Given the description of an element on the screen output the (x, y) to click on. 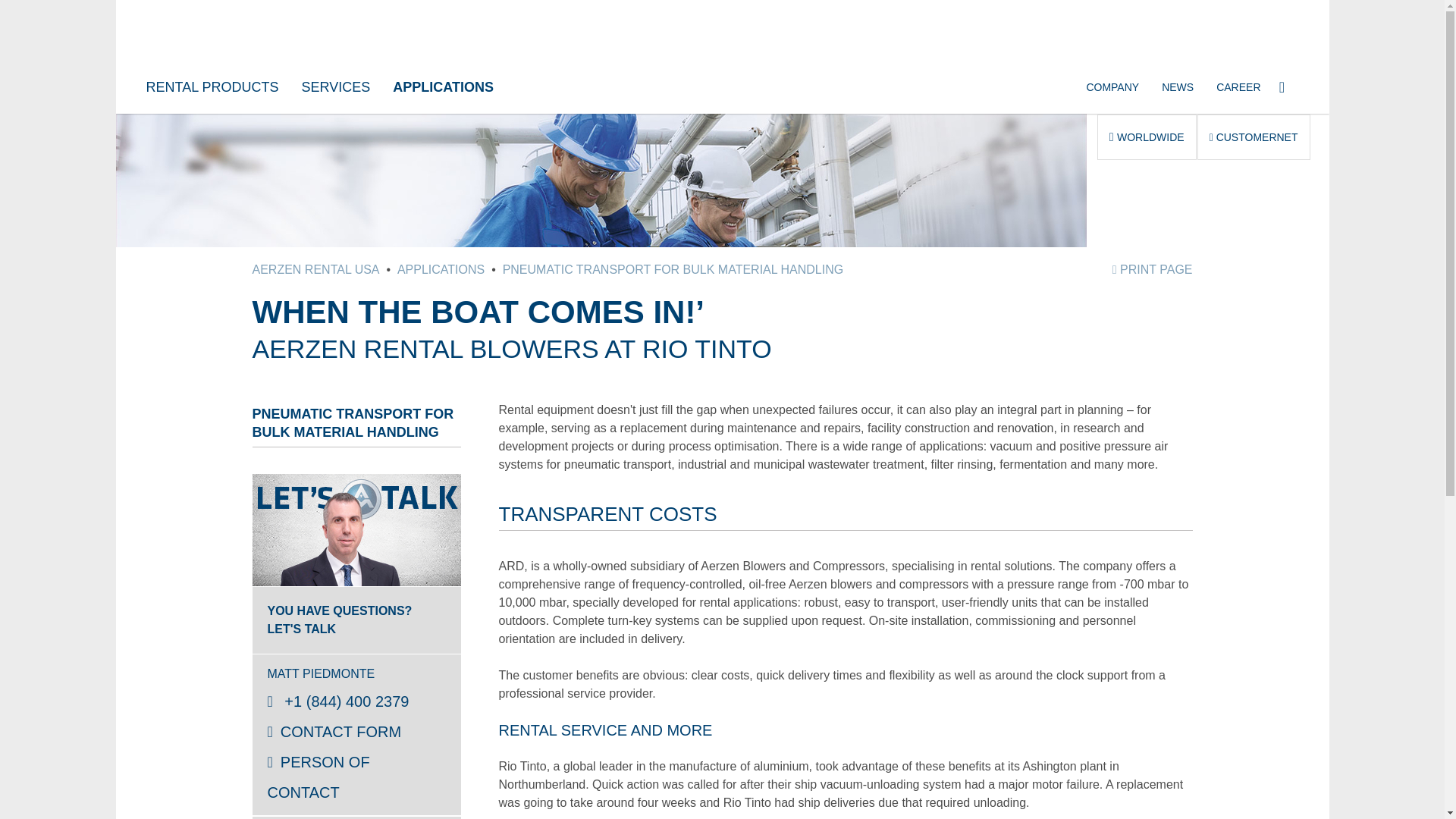
AERZEN RENTAL USA (314, 269)
Company (1112, 86)
News (1177, 86)
SERVICES (335, 86)
with ideas, passion and initiative (1238, 86)
Services (335, 86)
PNEUMATIC TRANSPORT FOR BULK MATERIAL HANDLING (673, 269)
WORLDWIDE (1146, 136)
CUSTOMERNET (1253, 136)
